Given the description of an element on the screen output the (x, y) to click on. 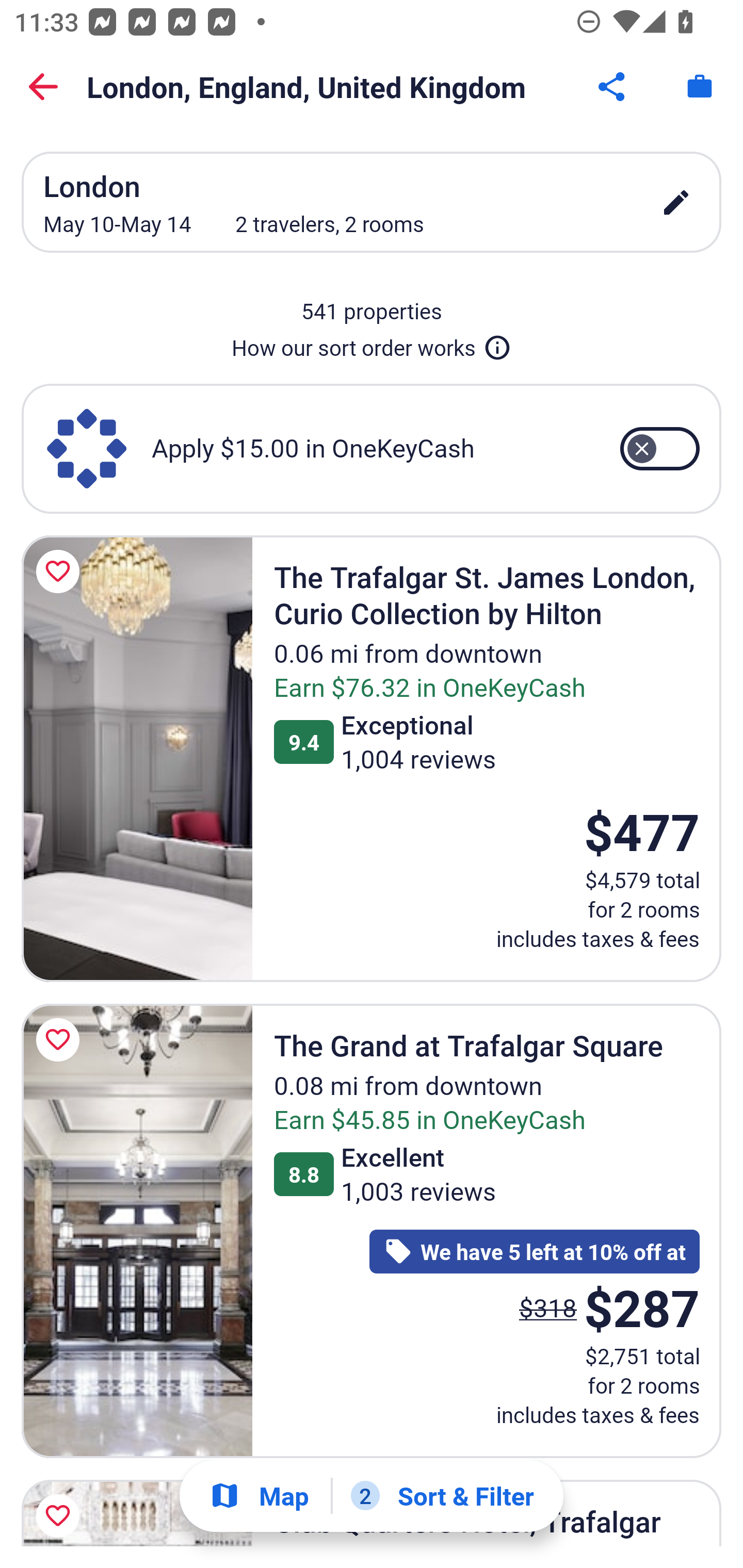
Back (43, 86)
Share Button (612, 86)
Trips. Button (699, 86)
London May 10-May 14 2 travelers, 2 rooms edit (371, 202)
How our sort order works (371, 344)
Save The Grand at Trafalgar Square to a trip (61, 1040)
The Grand at Trafalgar Square (136, 1230)
$318 The price was $318 (547, 1307)
2 Sort & Filter 2 Filters applied. Filters Button (442, 1495)
Show map Map Show map Button (258, 1495)
